Given the description of an element on the screen output the (x, y) to click on. 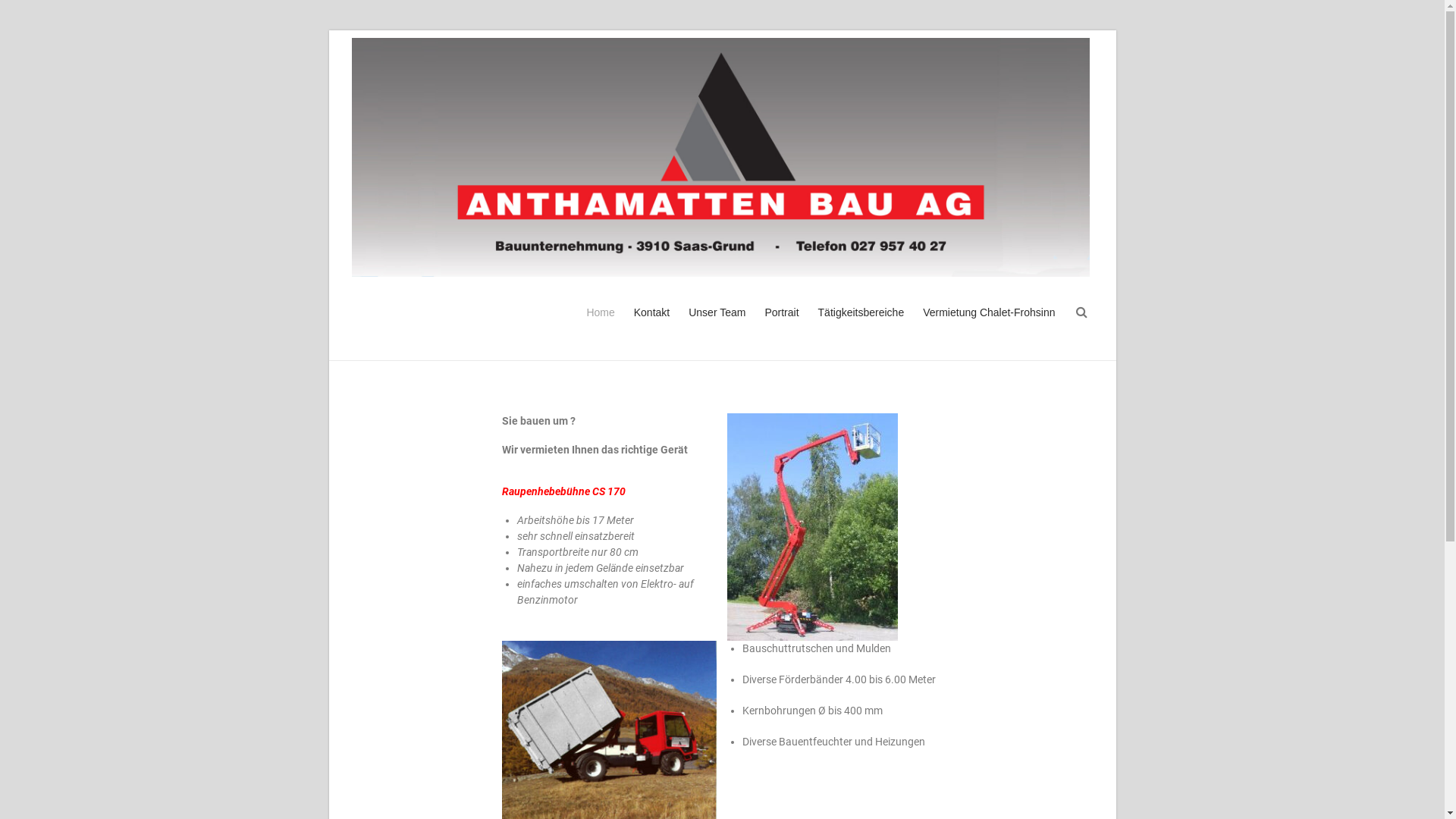
Home Element type: text (600, 325)
Unser Team Element type: text (716, 325)
Portrait Element type: text (781, 325)
Kontakt Element type: text (651, 325)
Vermietung Chalet-Frohsinn Element type: text (988, 325)
